Given the description of an element on the screen output the (x, y) to click on. 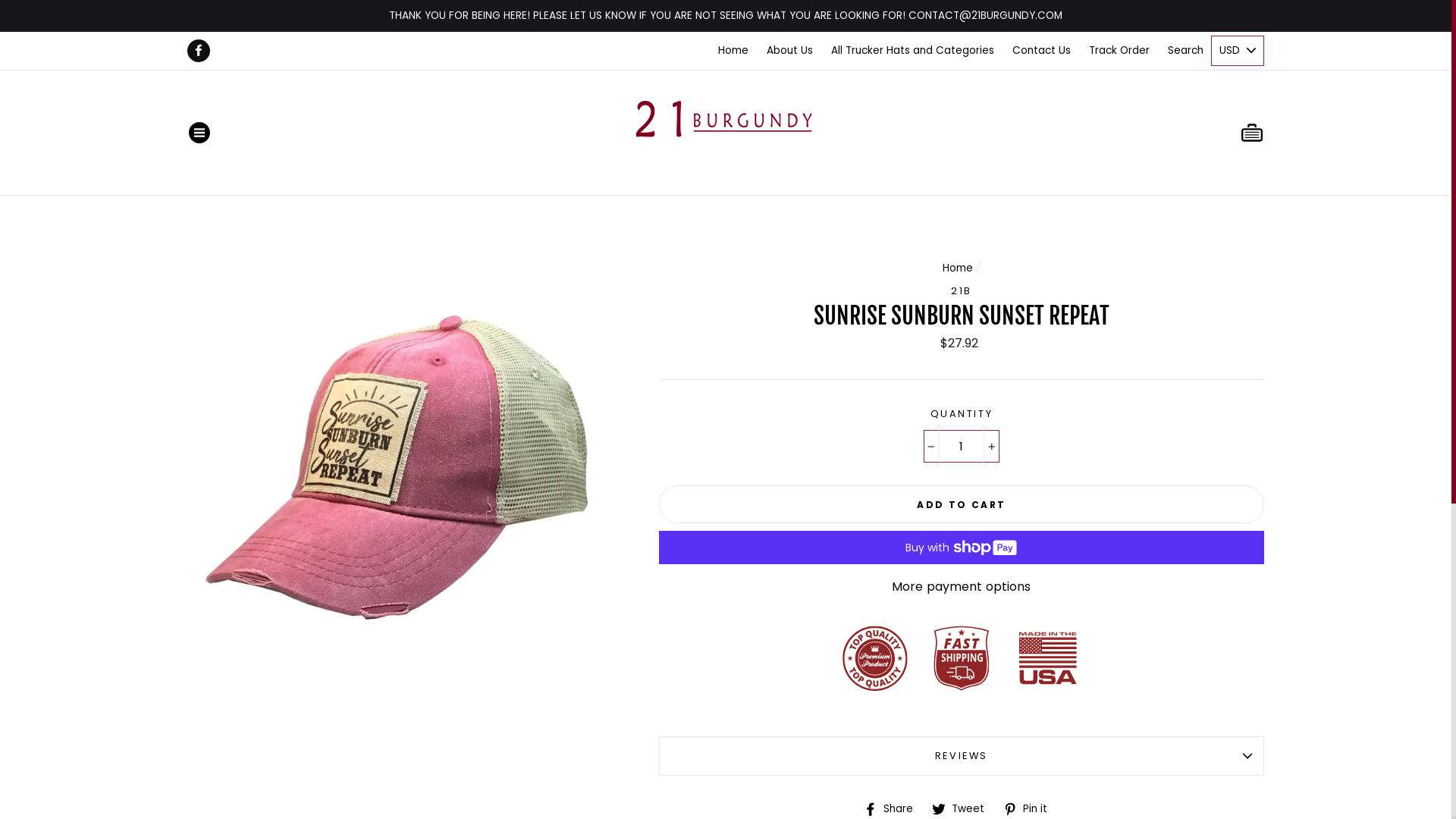
Contact Us Element type: text (1041, 50)
Pin it
Pin on Pinterest Element type: text (1030, 808)
More payment options Element type: text (961, 586)
Skip to content Element type: text (0, 0)
Facebook Element type: text (198, 50)
Home Element type: text (733, 50)
Track Order Element type: text (1119, 50)
Home Element type: text (957, 267)
Share
Share on Facebook Element type: text (893, 808)
SEARCH Element type: text (1229, 132)
ADD TO CART Element type: text (961, 504)
SITE NAVIGATION Element type: text (199, 132)
About Us Element type: text (789, 50)
REVIEWS Element type: text (961, 755)
All Trucker Hats and Categories Element type: text (912, 50)
Search Element type: text (1185, 50)
+ Element type: text (991, 446)
CART Element type: text (1251, 132)
Tweet
Tweet on Twitter Element type: text (963, 808)
